Given the description of an element on the screen output the (x, y) to click on. 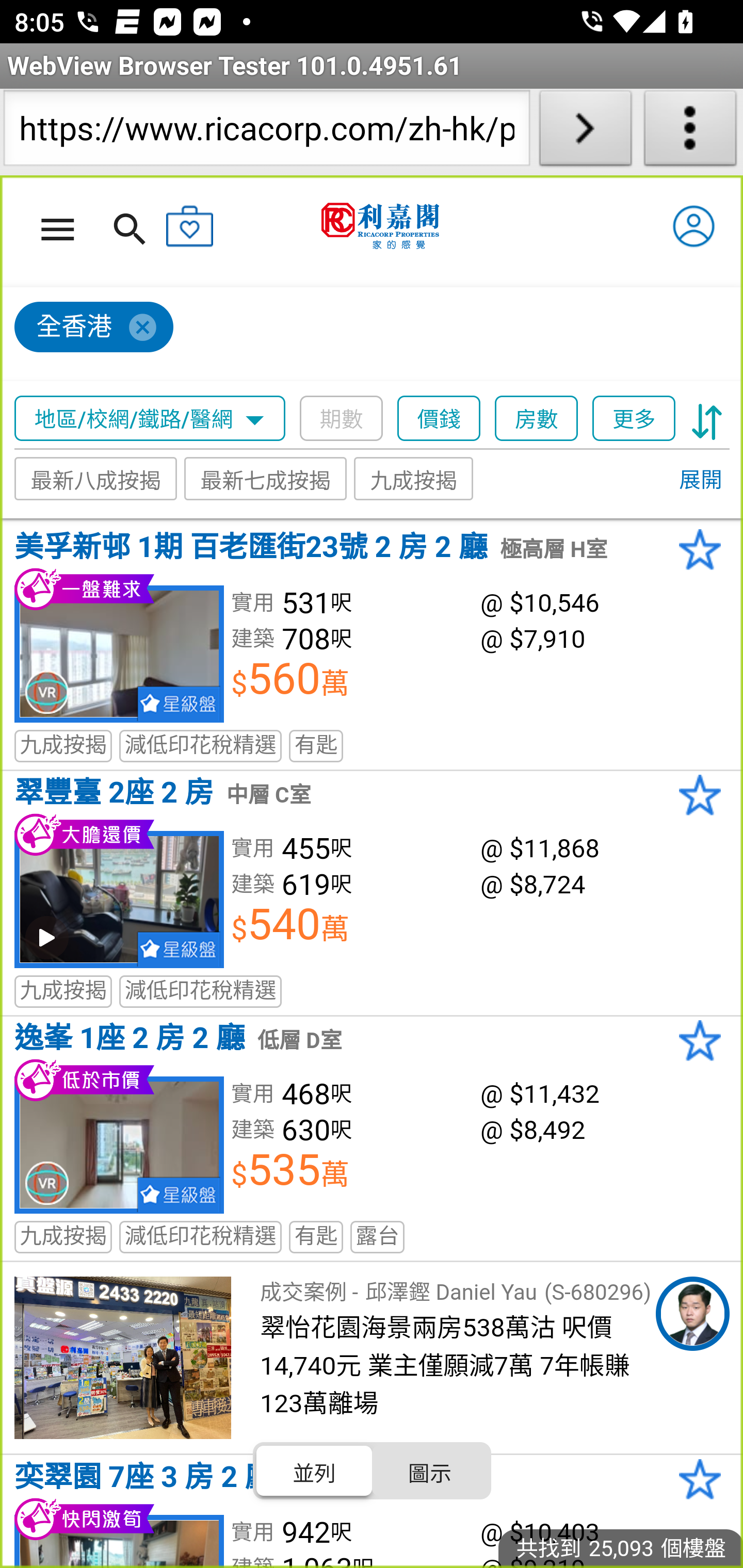
https://www.ricacorp.com/zh-hk/property/list/buy (266, 132)
Load URL (585, 132)
About WebView (690, 132)
全香港 (94, 327)
地區/校網/鐵路/醫網 (150, 418)
期數 (341, 418)
價錢 (439, 418)
房數 (536, 418)
更多 (634, 418)
sort (706, 418)
最新八成按揭 (96, 478)
最新七成按揭 (266, 478)
九成按揭 (413, 478)
展開 (699, 481)
Daniel Yau (692, 1313)
並列 (314, 1470)
圖示 (429, 1470)
